Given the description of an element on the screen output the (x, y) to click on. 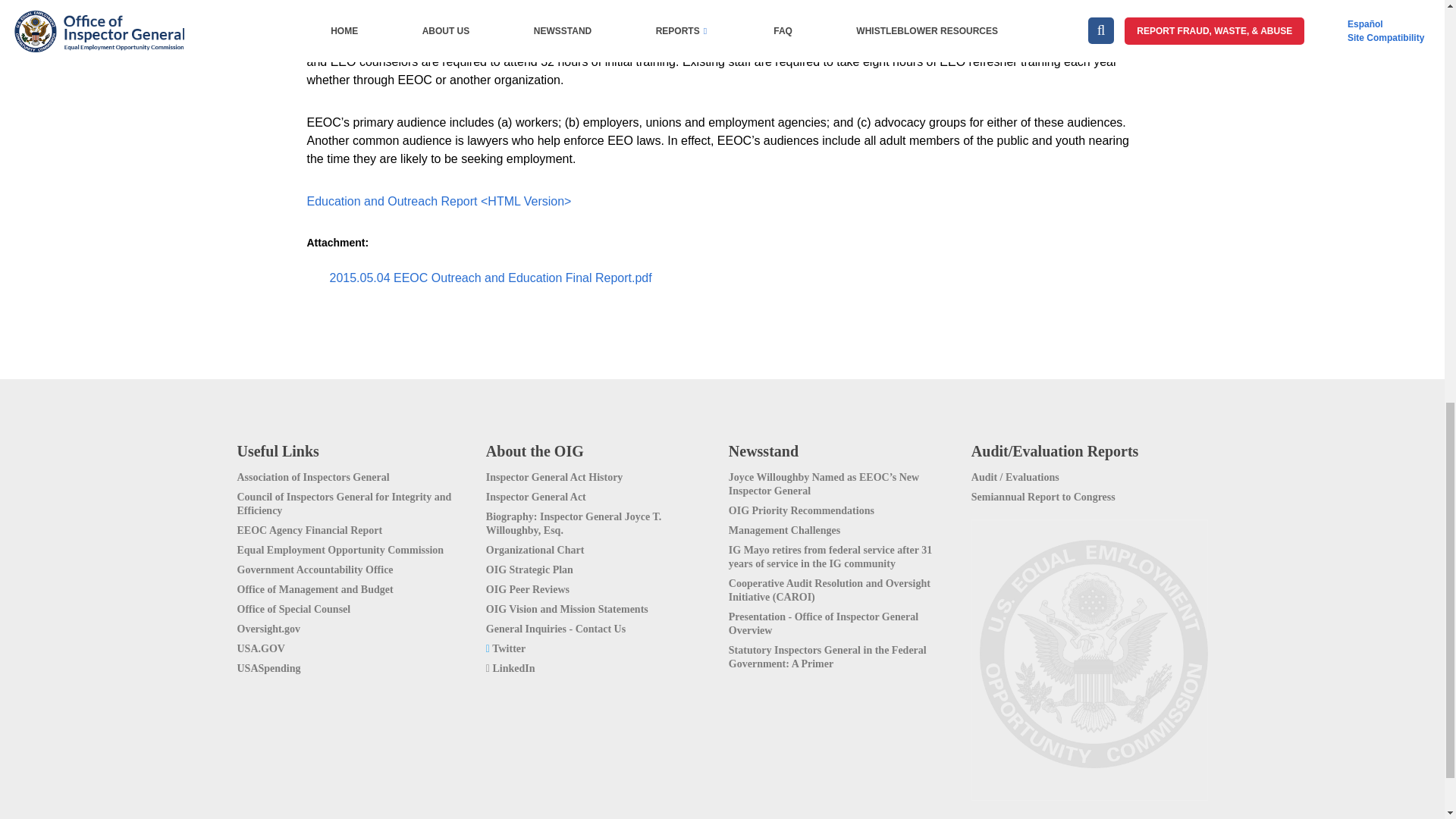
USASpending (354, 665)
Council of Inspectors General for Integrity and Efficiency (354, 500)
EEOC OIG Twitter (601, 646)
2015.05.04 EEOC Outreach and Education Final Report.pdf (485, 277)
Government Accountability Office (354, 567)
Office of Special Counsel (354, 606)
Inspector General Act History (601, 474)
OIG Strategic Plan (601, 567)
Equal Employment Opportunity Commission (354, 547)
